Given the description of an element on the screen output the (x, y) to click on. 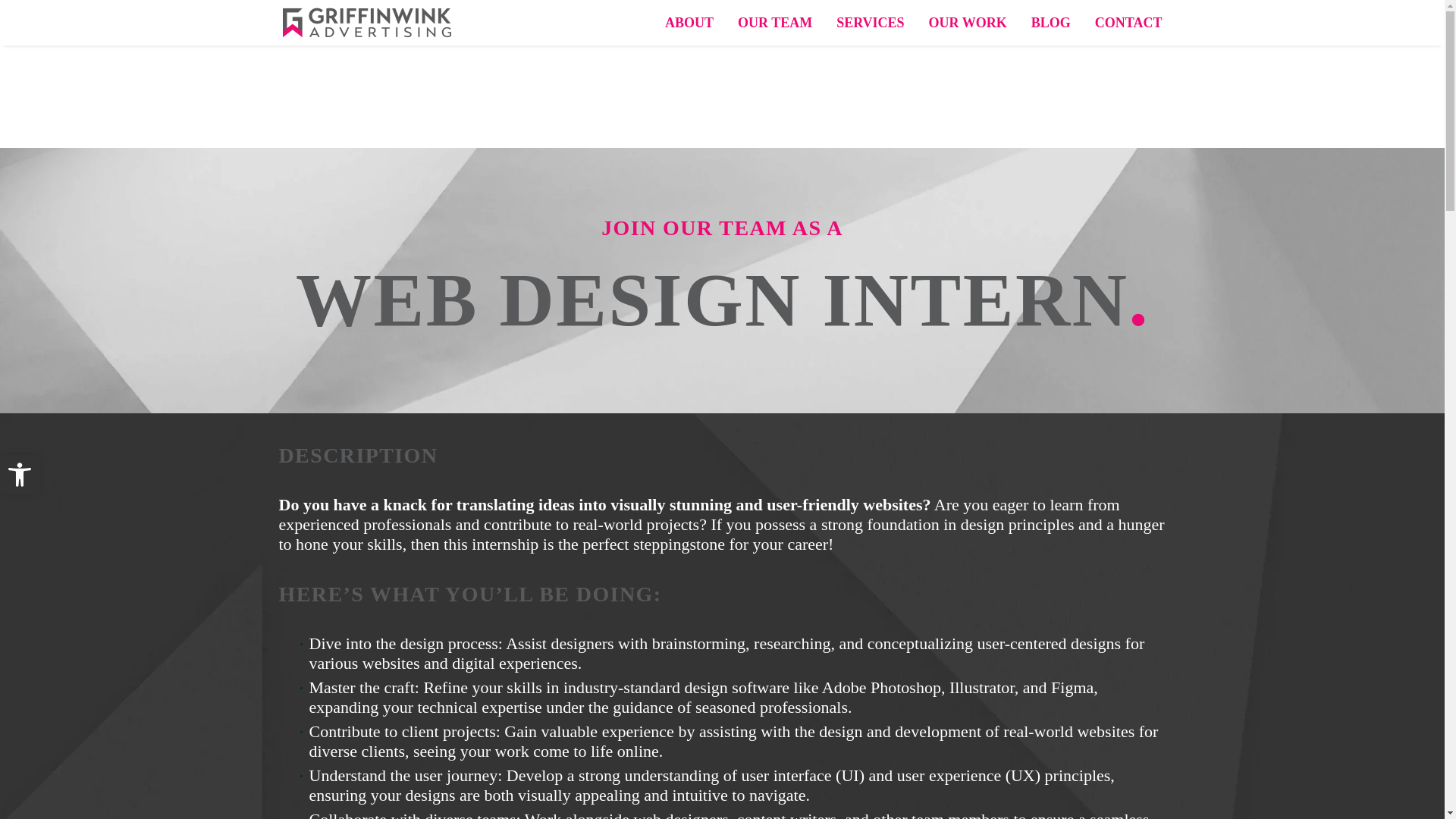
ABOUT (688, 23)
Grayscale (19, 474)
Decrease Text (19, 474)
Light Background (19, 474)
